Given the description of an element on the screen output the (x, y) to click on. 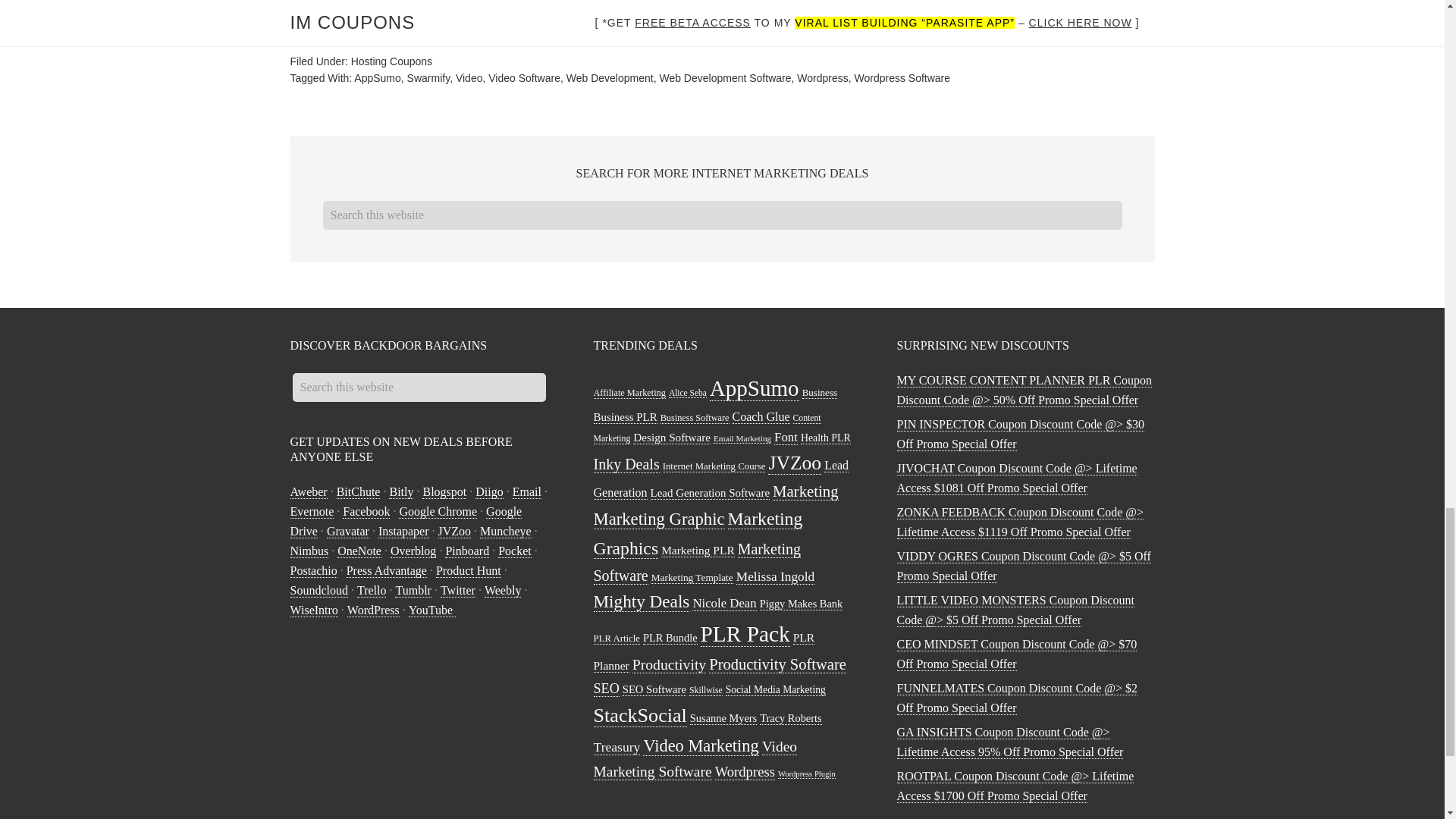
Web Development Software (724, 78)
Facebook (366, 511)
BitChute (358, 491)
OneNote (359, 550)
Wordpress Software (901, 78)
Hosting Coupons (391, 60)
AppSumo (376, 78)
Swarmify (428, 78)
Pinboard (467, 550)
